Given the description of an element on the screen output the (x, y) to click on. 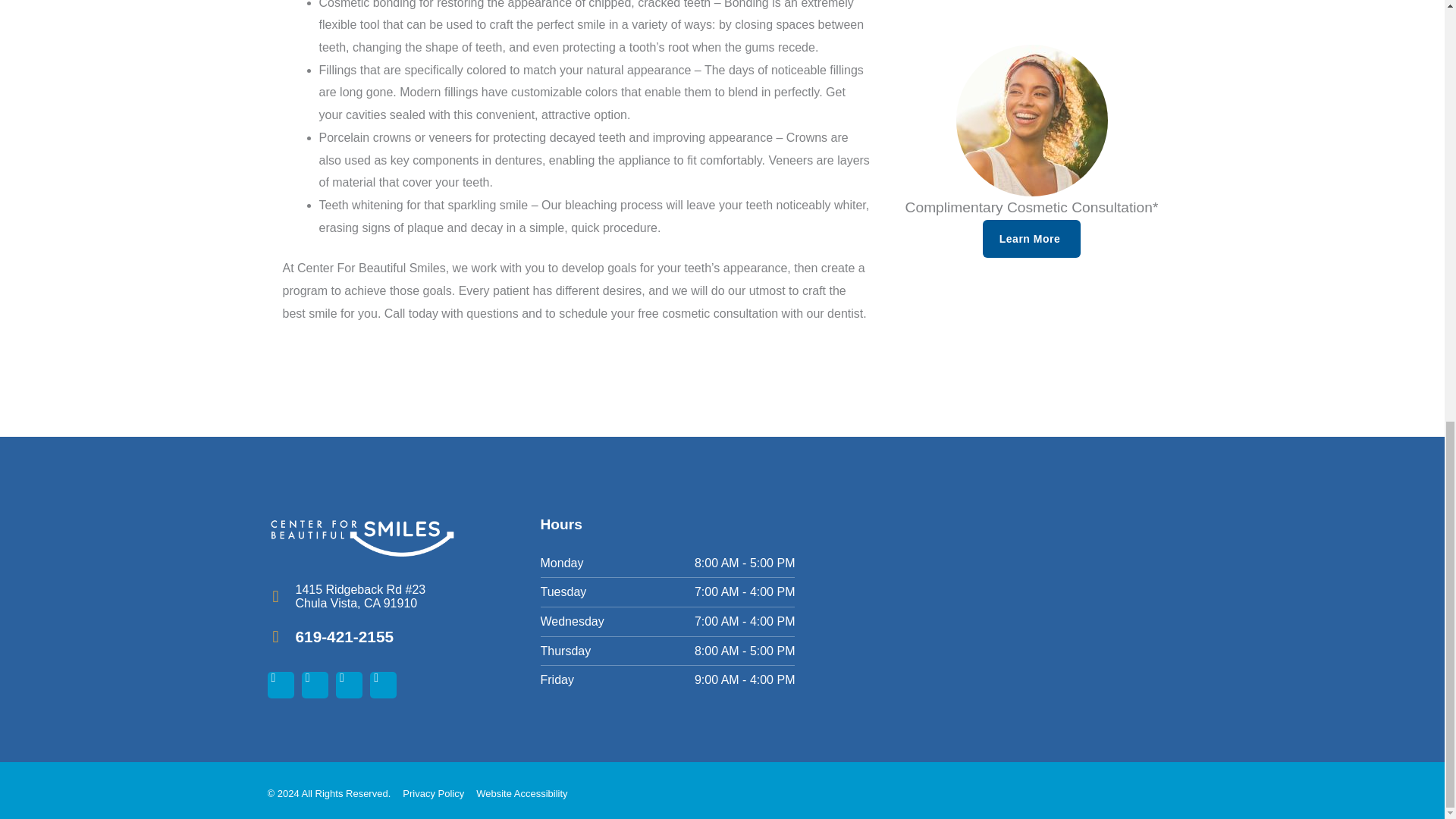
young-african-woman-smiling-at-sunset (1030, 120)
Google (349, 684)
619-421-2155 (344, 636)
Center For Beautiful Smiles Chula Vista CA (1021, 608)
Privacy Policy (433, 793)
Learn More (1031, 238)
Instagram (315, 684)
Facebook-f (280, 684)
Yelp (382, 684)
